Given the description of an element on the screen output the (x, y) to click on. 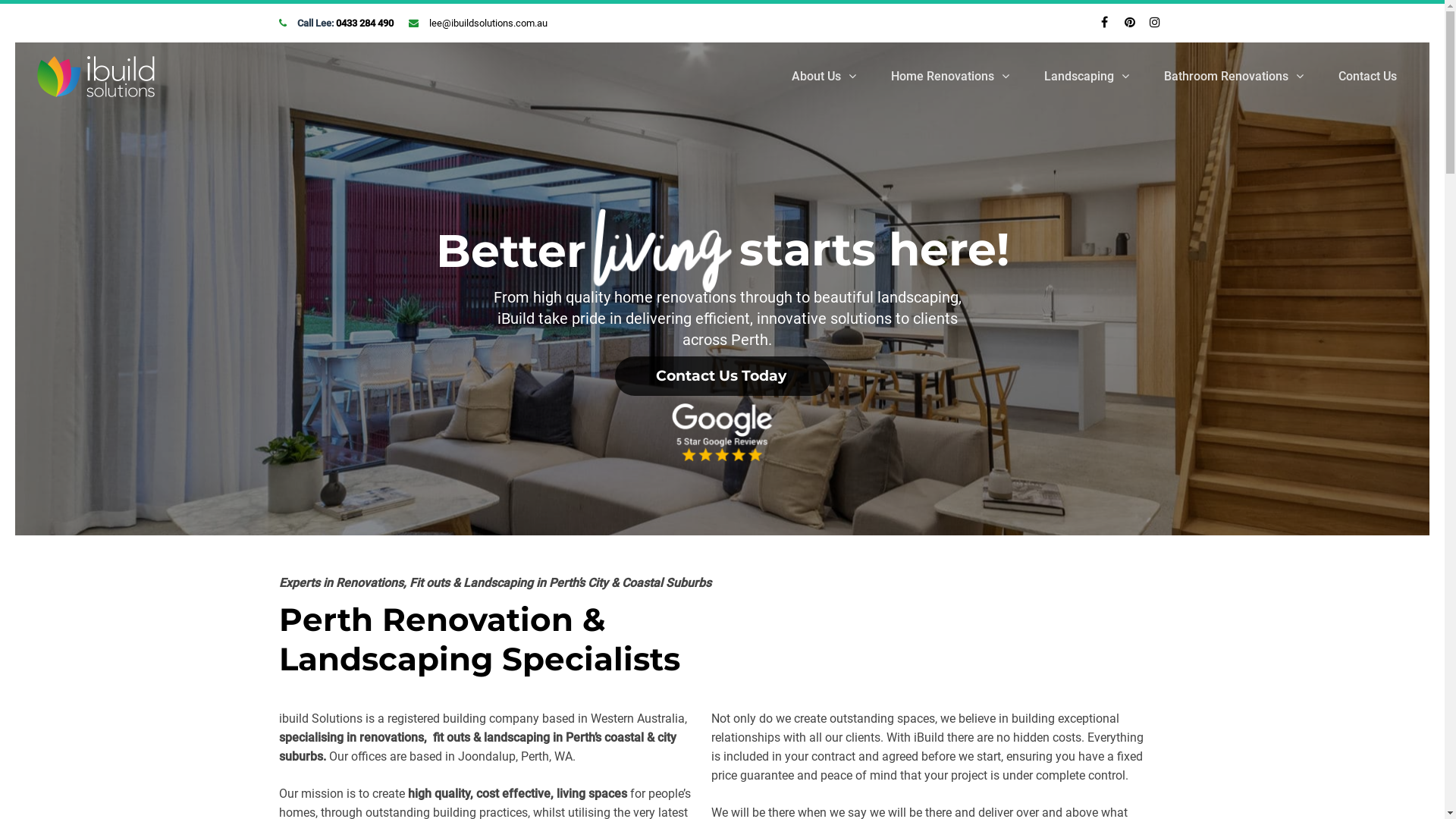
Bathroom Renovations Element type: text (1233, 76)
Contact Us Element type: text (1367, 76)
Landscaping Element type: text (1086, 76)
Home Renovations Element type: text (949, 76)
About Us Element type: text (823, 76)
ibuild Solutions Element type: hover (96, 76)
lee@ibuildsolutions.com.au Element type: text (488, 22)
0433 284 490 Element type: text (363, 22)
